Given the description of an element on the screen output the (x, y) to click on. 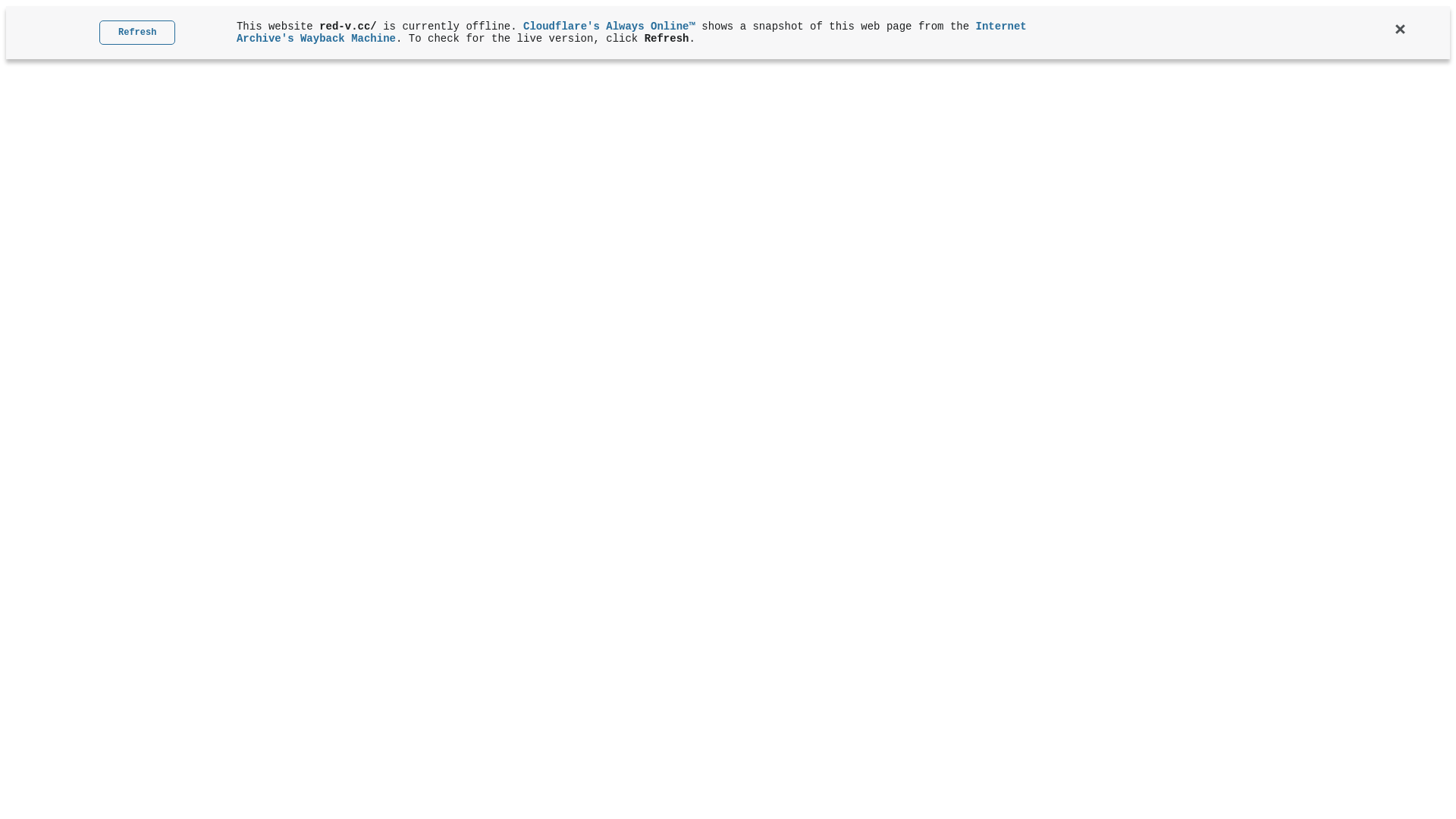
Internet Archive's Wayback Machine Element type: text (631, 32)
Refresh Element type: text (137, 32)
